Given the description of an element on the screen output the (x, y) to click on. 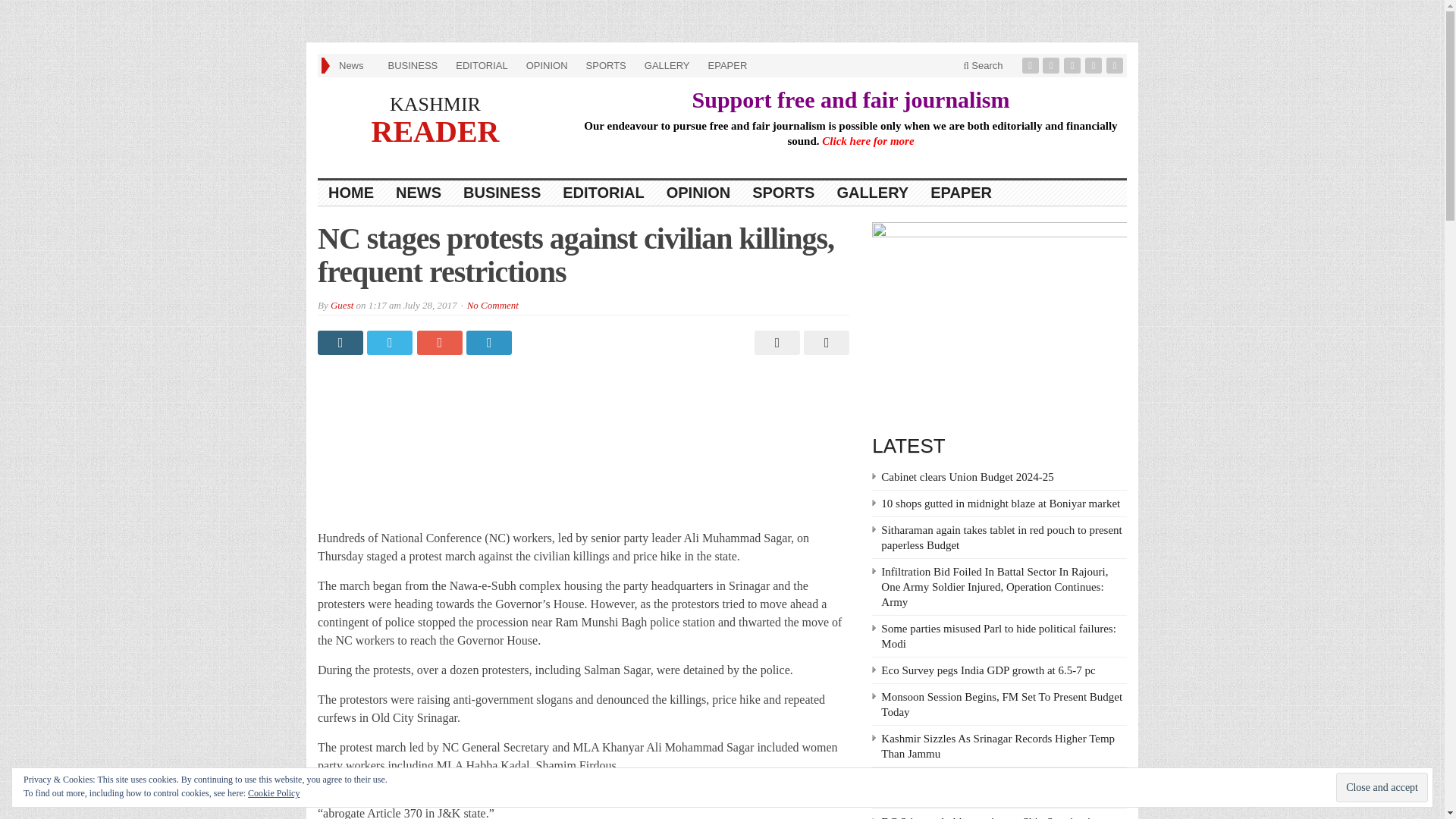
No Comment (492, 305)
BUSINESS (412, 65)
News (354, 65)
EPAPER (961, 192)
BUSINESS (501, 192)
KASHMIR (435, 104)
Facebook (1032, 65)
Share on Facebook (341, 342)
Daily Newspaper (435, 104)
Close and accept (1382, 787)
HOME (351, 192)
Guest (341, 305)
Share on LinkedIn (490, 342)
Site feed (1115, 65)
Click here for more (868, 141)
